Given the description of an element on the screen output the (x, y) to click on. 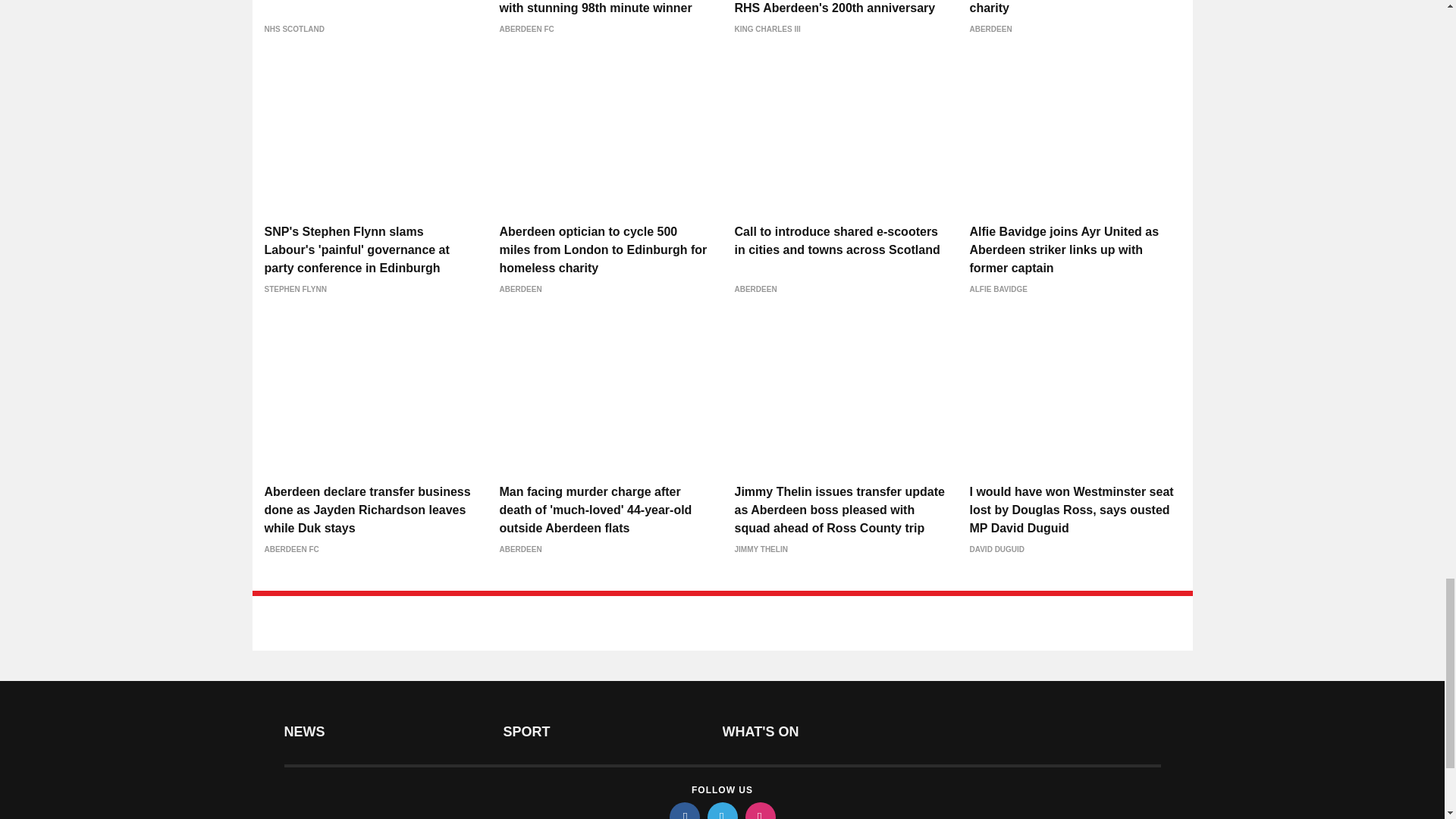
twitter (721, 810)
instagram (759, 810)
facebook (683, 810)
